Given the description of an element on the screen output the (x, y) to click on. 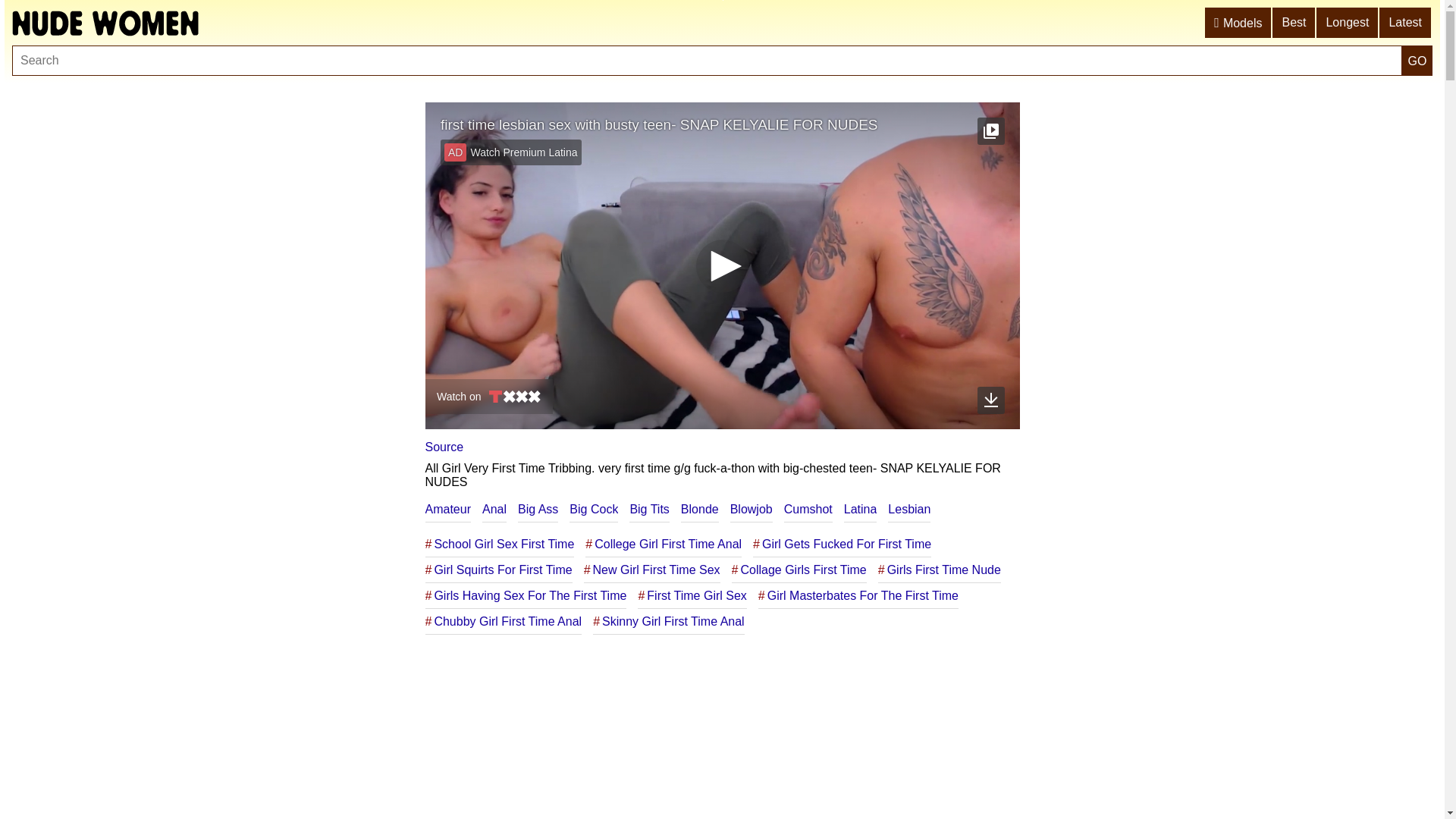
Source Element type: text (443, 446)
Nude women video Element type: hover (105, 22)
Best Element type: text (1294, 22)
Big Cock Element type: text (593, 509)
Chubby Girl First Time Anal Element type: text (502, 621)
Blowjob Element type: text (751, 509)
Latina Element type: text (860, 509)
GO Element type: text (1417, 60)
Girl Squirts For First Time Element type: text (497, 570)
School Girl Sex First Time Element type: text (499, 544)
New Girl First Time Sex Element type: text (651, 570)
Girls First Time Nude Element type: text (939, 570)
Collage Girls First Time Element type: text (798, 570)
Girl Masterbates For The First Time Element type: text (858, 595)
Latest Element type: text (1405, 22)
Big Ass Element type: text (537, 509)
Girl Gets Fucked For First Time Element type: text (842, 544)
Anal Element type: text (494, 509)
Big Tits Element type: text (648, 509)
Girls Having Sex For The First Time Element type: text (525, 595)
Amateur Element type: text (447, 509)
First Time Girl Sex Element type: text (691, 595)
Blonde Element type: text (699, 509)
Lesbian Element type: text (909, 509)
Skinny Girl First Time Anal Element type: text (668, 621)
Longest Element type: text (1347, 22)
Models Element type: text (1238, 22)
College Girl First Time Anal Element type: text (663, 544)
Cumshot Element type: text (808, 509)
